Given the description of an element on the screen output the (x, y) to click on. 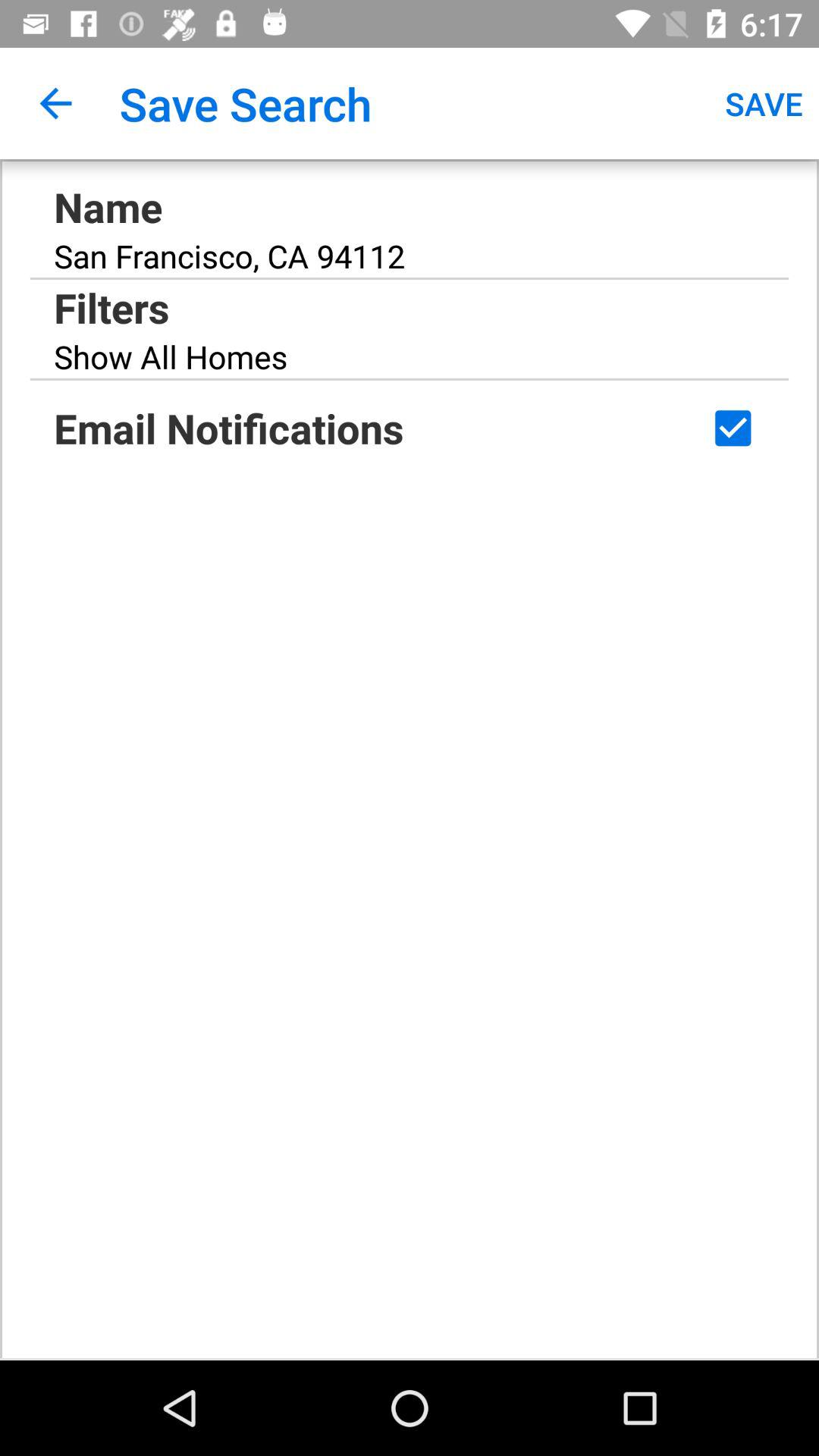
turn off email notification (732, 428)
